Given the description of an element on the screen output the (x, y) to click on. 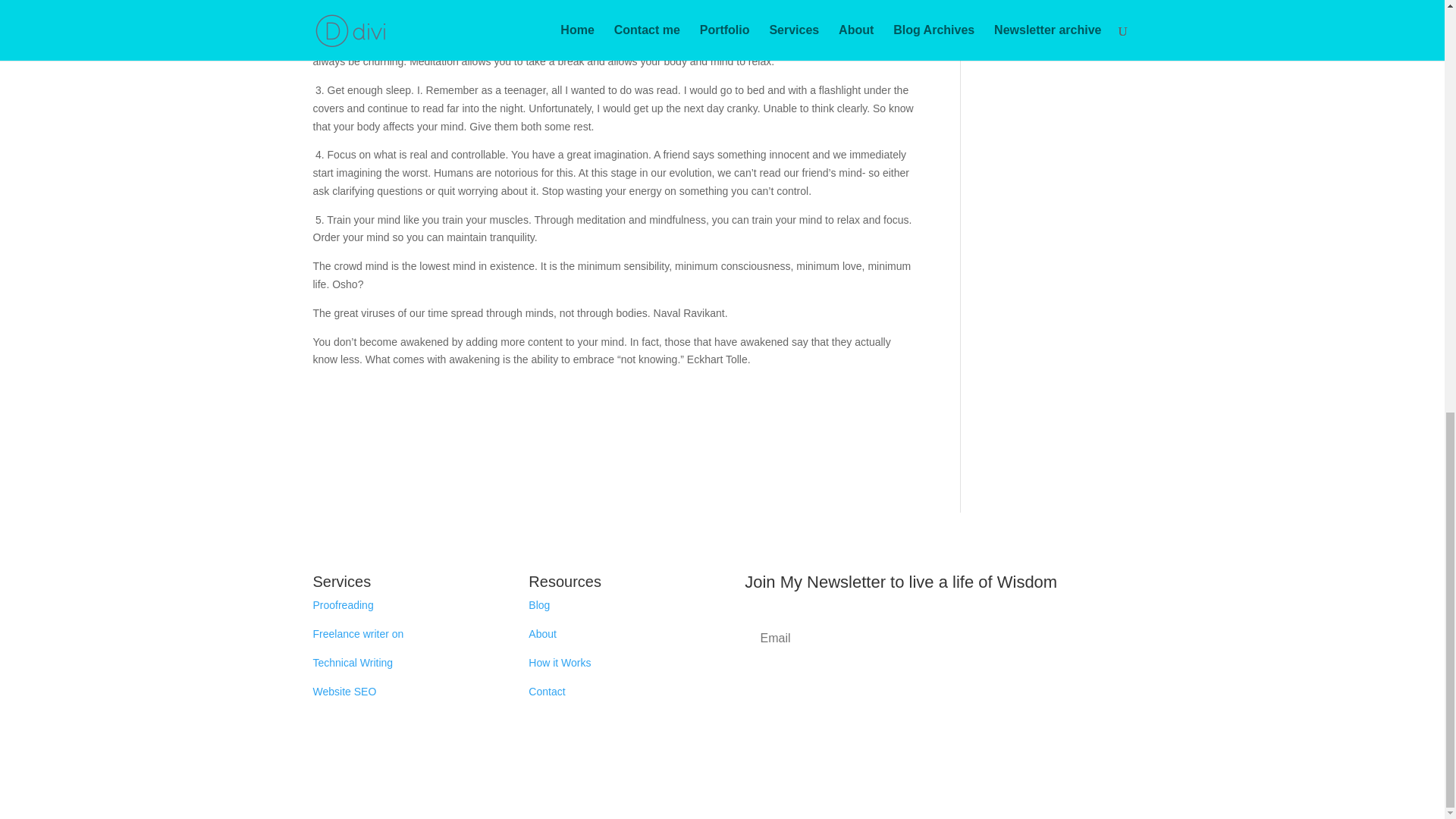
Website SEO (344, 691)
How it Works (559, 662)
Subscribe (937, 685)
Contact (546, 691)
Blog (539, 604)
Follow on Facebook (907, 739)
Technical Writing (353, 662)
Proofreading (342, 604)
Follow on Instagram (967, 739)
Freelance writer on  (359, 633)
About (542, 633)
Follow on X (938, 739)
